Given the description of an element on the screen output the (x, y) to click on. 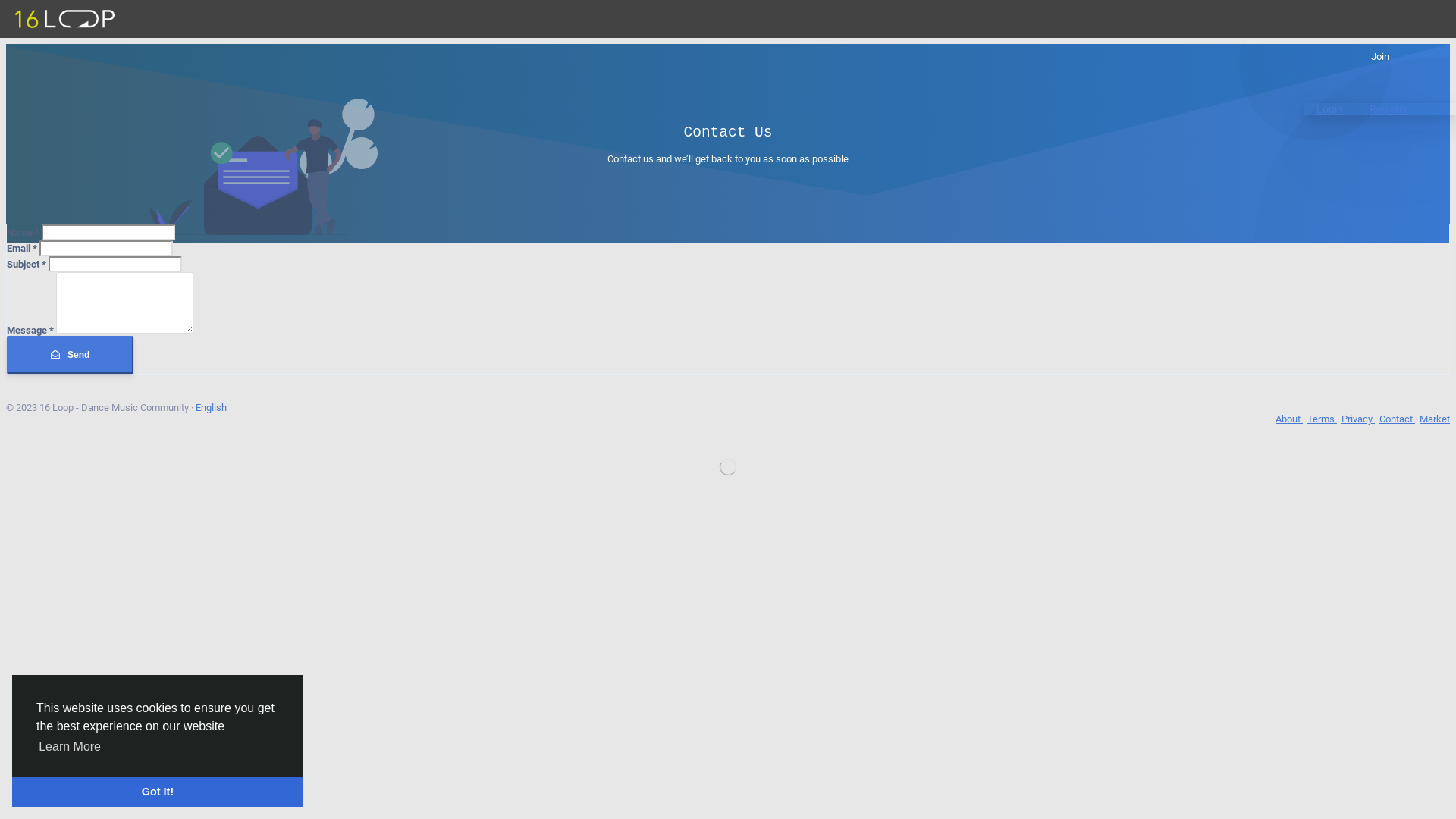
Register Element type: text (1388, 109)
About Element type: text (1288, 418)
Login Element type: text (1329, 109)
Terms Element type: text (1321, 418)
Got It! Element type: text (157, 791)
Learn More Element type: text (69, 746)
Privacy Element type: text (1357, 418)
Market Element type: text (1434, 418)
Contact Element type: text (1397, 418)
16 Loop - Dance Music Community Element type: hover (64, 18)
Send Element type: text (69, 354)
